Given the description of an element on the screen output the (x, y) to click on. 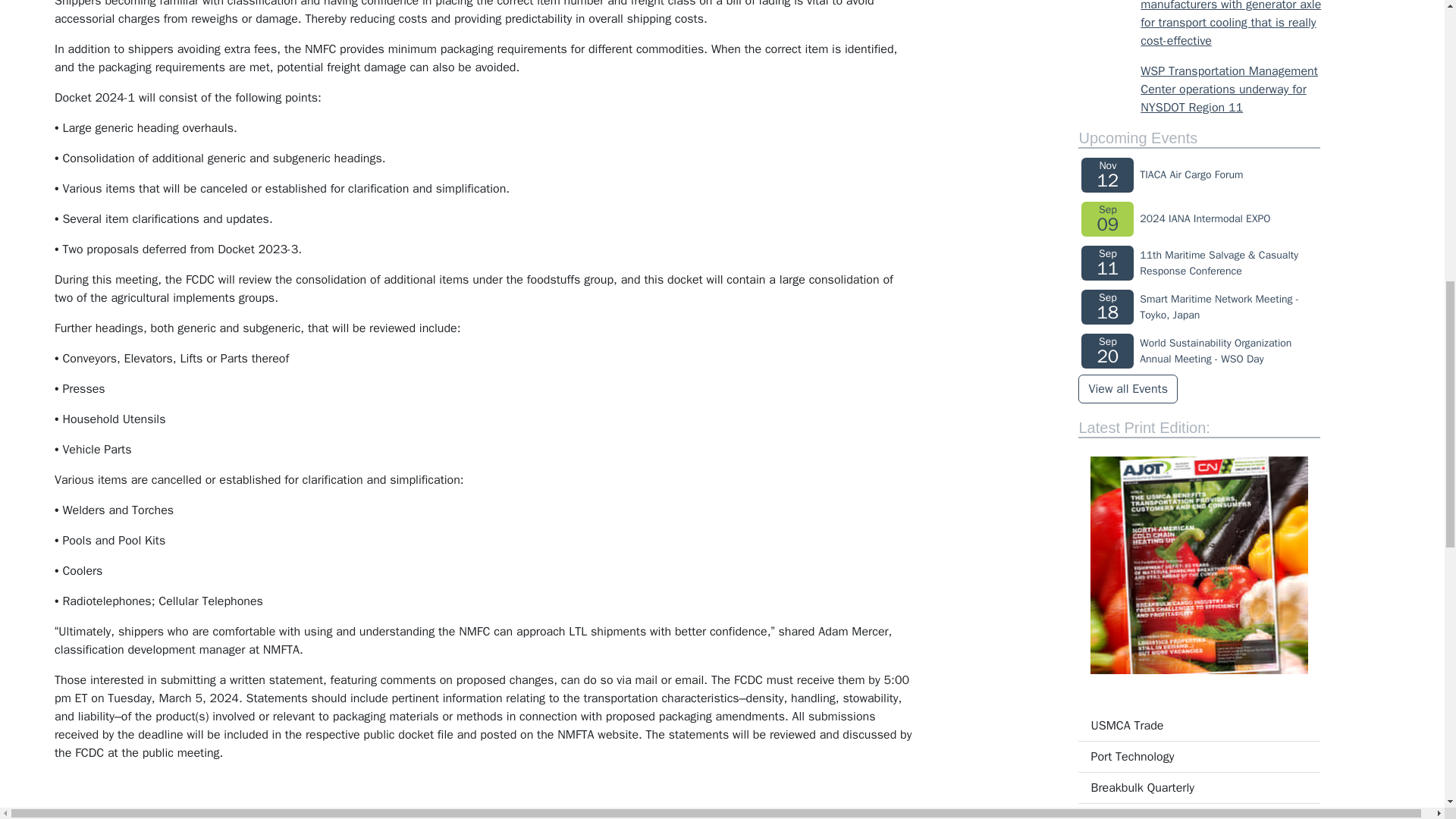
View Full Events Calendar (1127, 388)
